Given the description of an element on the screen output the (x, y) to click on. 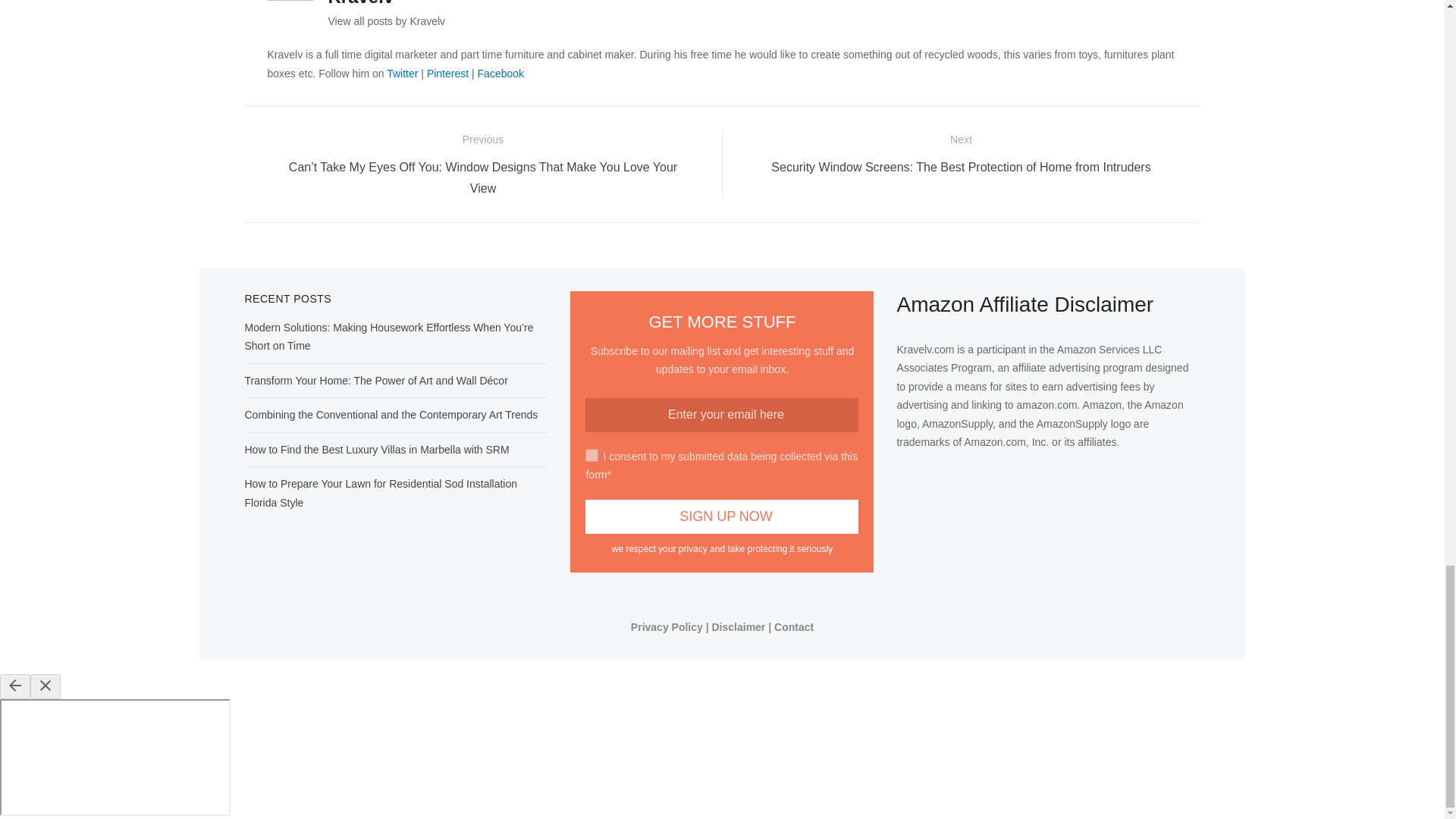
View all posts by Kravelv (386, 21)
Sign Up Now (722, 516)
on (591, 454)
